Given the description of an element on the screen output the (x, y) to click on. 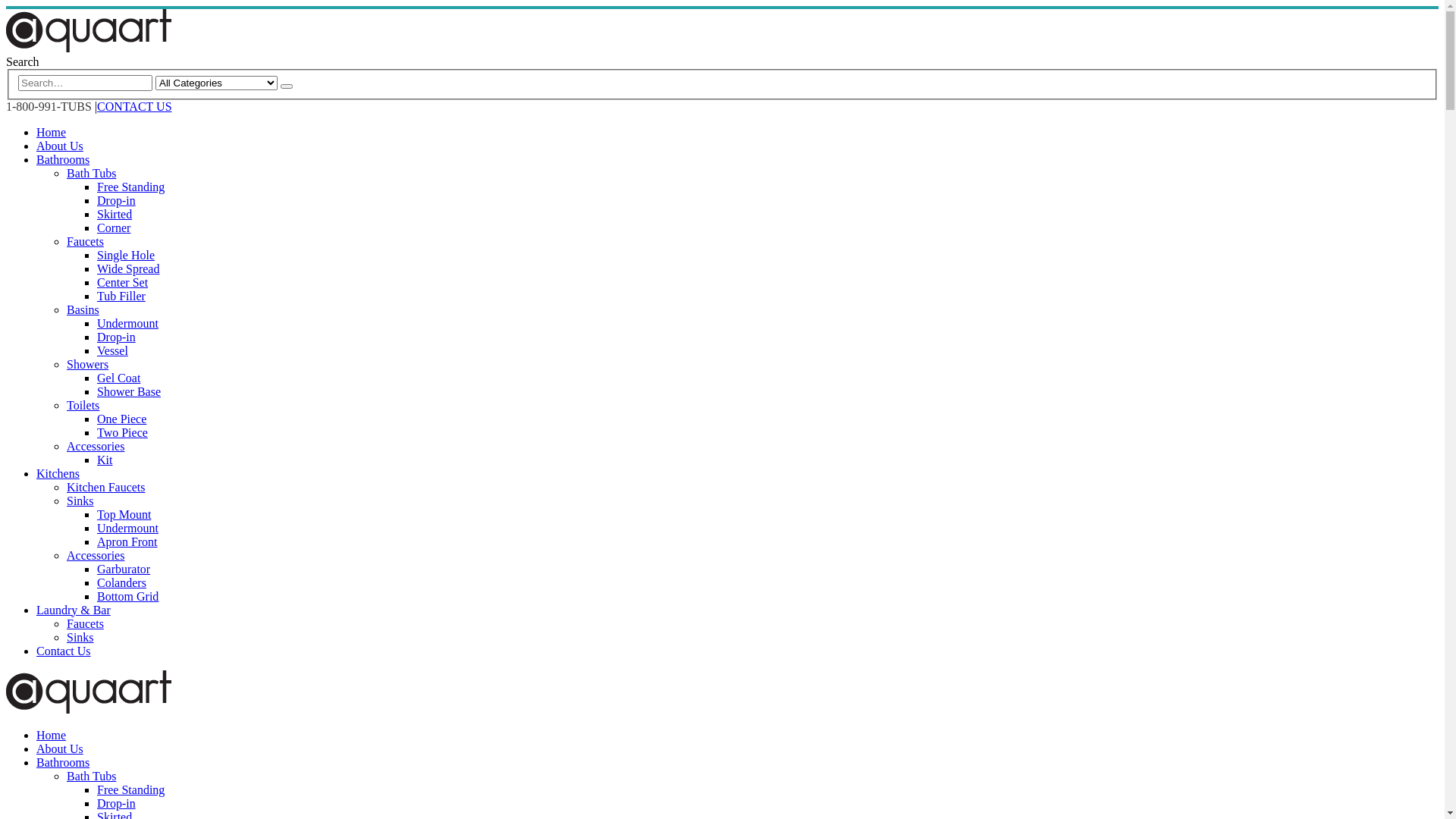
Bath Tubs Element type: text (91, 172)
Colanders Element type: text (121, 582)
Skirted Element type: text (114, 213)
Vessel Element type: text (112, 350)
Center Set Element type: text (122, 282)
Bathrooms Element type: text (62, 159)
Sinks Element type: text (80, 636)
Laundry & Bar Element type: text (73, 609)
Gel Coat Element type: text (118, 377)
Shower Base Element type: text (128, 391)
Drop-in Element type: text (116, 200)
Single Hole Element type: text (125, 254)
Garburator Element type: text (123, 568)
Undermount Element type: text (127, 527)
Sinks Element type: text (80, 500)
Top Mount Element type: text (123, 514)
Search Element type: hover (286, 86)
Kitchens Element type: text (57, 473)
Search Element type: text (22, 61)
About Us Element type: text (59, 748)
Bottom Grid Element type: text (127, 595)
Accessories Element type: text (95, 445)
Bath Tubs Element type: text (91, 775)
Wide Spread Element type: text (128, 268)
Showers Element type: text (87, 363)
Drop-in Element type: text (116, 803)
Free Standing Element type: text (130, 789)
Tub Filler Element type: text (121, 295)
Home Element type: text (50, 734)
Bathrooms Element type: text (62, 762)
Two Piece Element type: text (122, 432)
Accessories Element type: text (95, 555)
Faucets Element type: text (84, 623)
AquaArt -  Element type: hover (88, 47)
Contact Us Element type: text (63, 650)
Kitchen Faucets Element type: text (105, 486)
AquaArt -  Element type: hover (88, 708)
Apron Front Element type: text (127, 541)
One Piece Element type: text (121, 418)
Undermount Element type: text (127, 322)
Home Element type: text (50, 131)
Drop-in Element type: text (116, 336)
Basins Element type: text (82, 309)
CONTACT US Element type: text (134, 106)
Toilets Element type: text (82, 404)
Kit Element type: text (104, 459)
About Us Element type: text (59, 145)
Corner Element type: text (113, 227)
Faucets Element type: text (84, 241)
Free Standing Element type: text (130, 186)
